Given the description of an element on the screen output the (x, y) to click on. 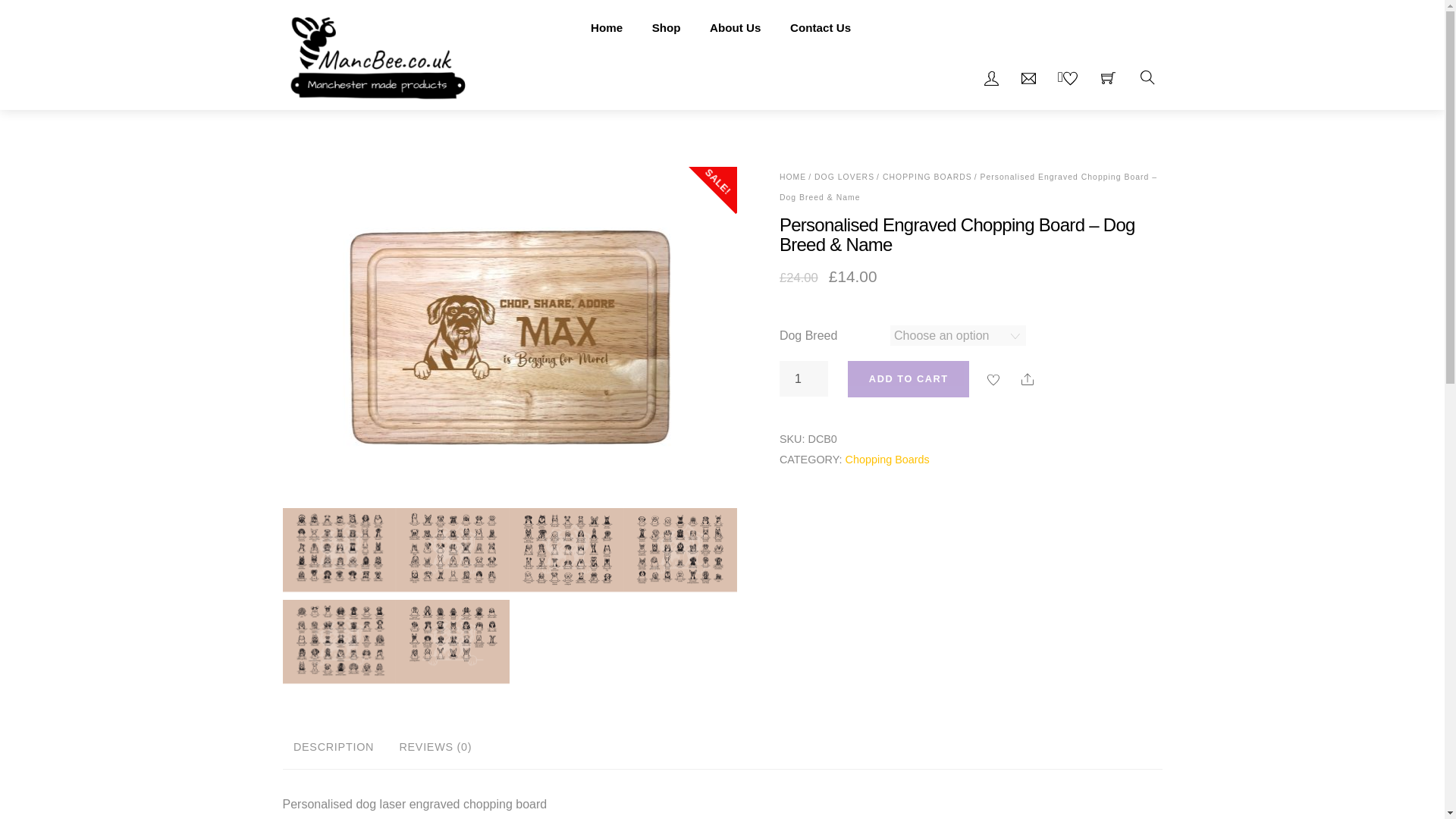
Chopping Boards (887, 459)
ADD TO CART (908, 378)
Shop (665, 27)
DOG LOVERS (844, 176)
HOME (792, 176)
Home (606, 27)
CHOPPING BOARDS (927, 176)
MancBee (376, 53)
About Us (735, 27)
DESCRIPTION (333, 748)
MancBeeLogo (376, 54)
1 (803, 378)
Contact Us (820, 27)
